Given the description of an element on the screen output the (x, y) to click on. 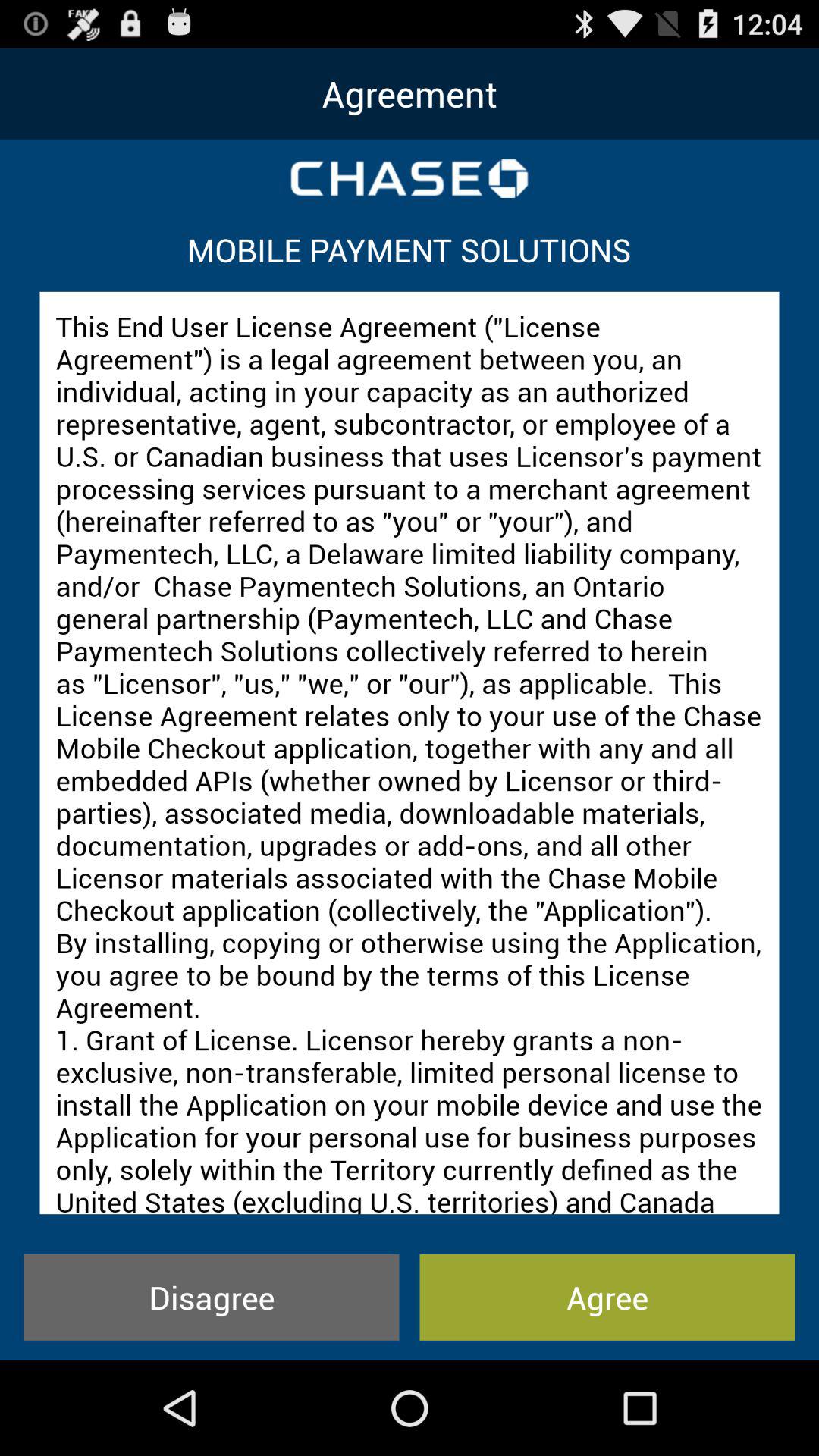
press icon next to agree item (211, 1297)
